Given the description of an element on the screen output the (x, y) to click on. 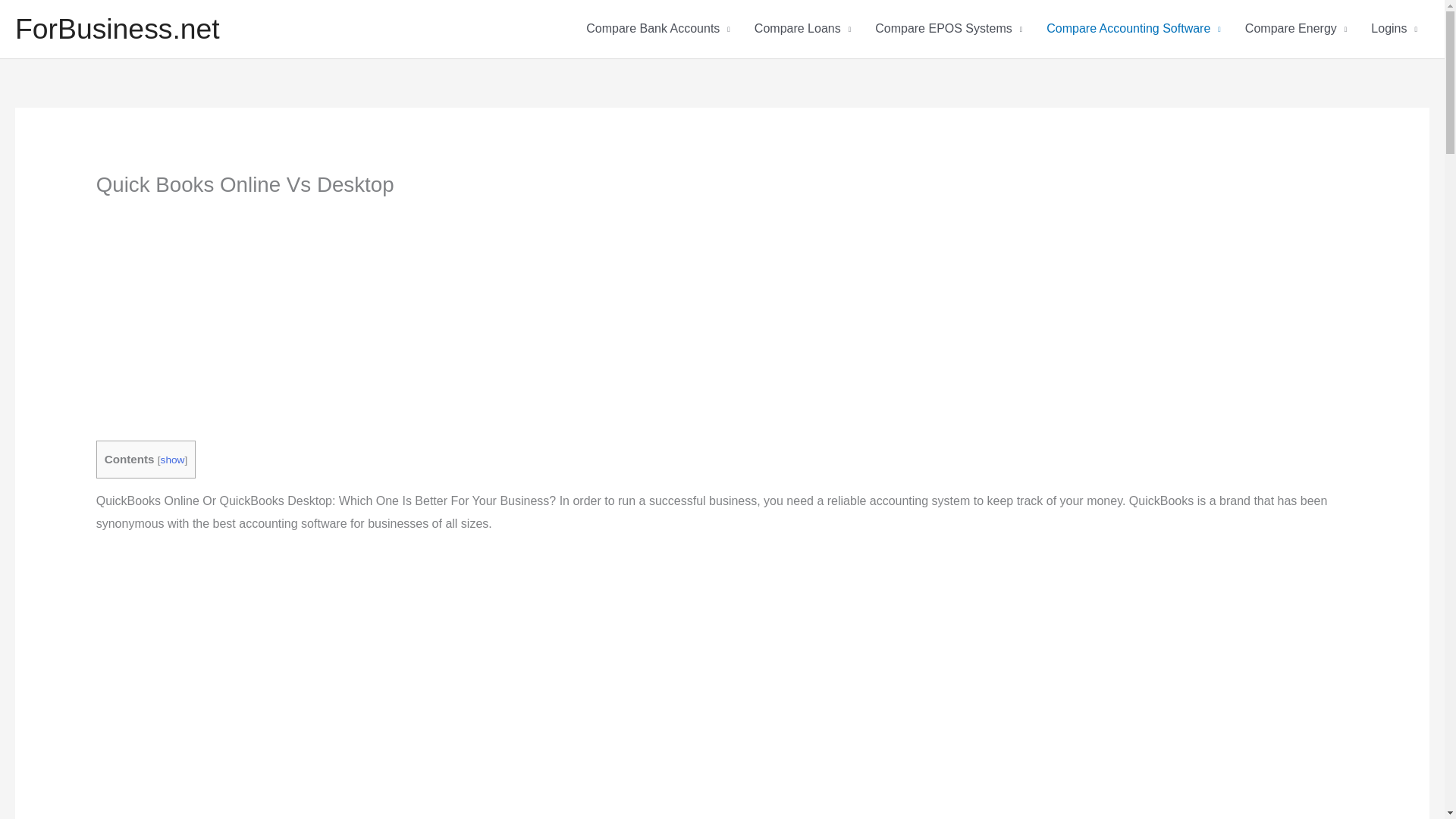
ForBusiness.net (116, 29)
show (172, 459)
Compare Accounting Software (1133, 28)
Logins (1393, 28)
Compare Loans (802, 28)
Compare Energy (1295, 28)
Compare EPOS Systems (948, 28)
Compare Bank Accounts (657, 28)
